Given the description of an element on the screen output the (x, y) to click on. 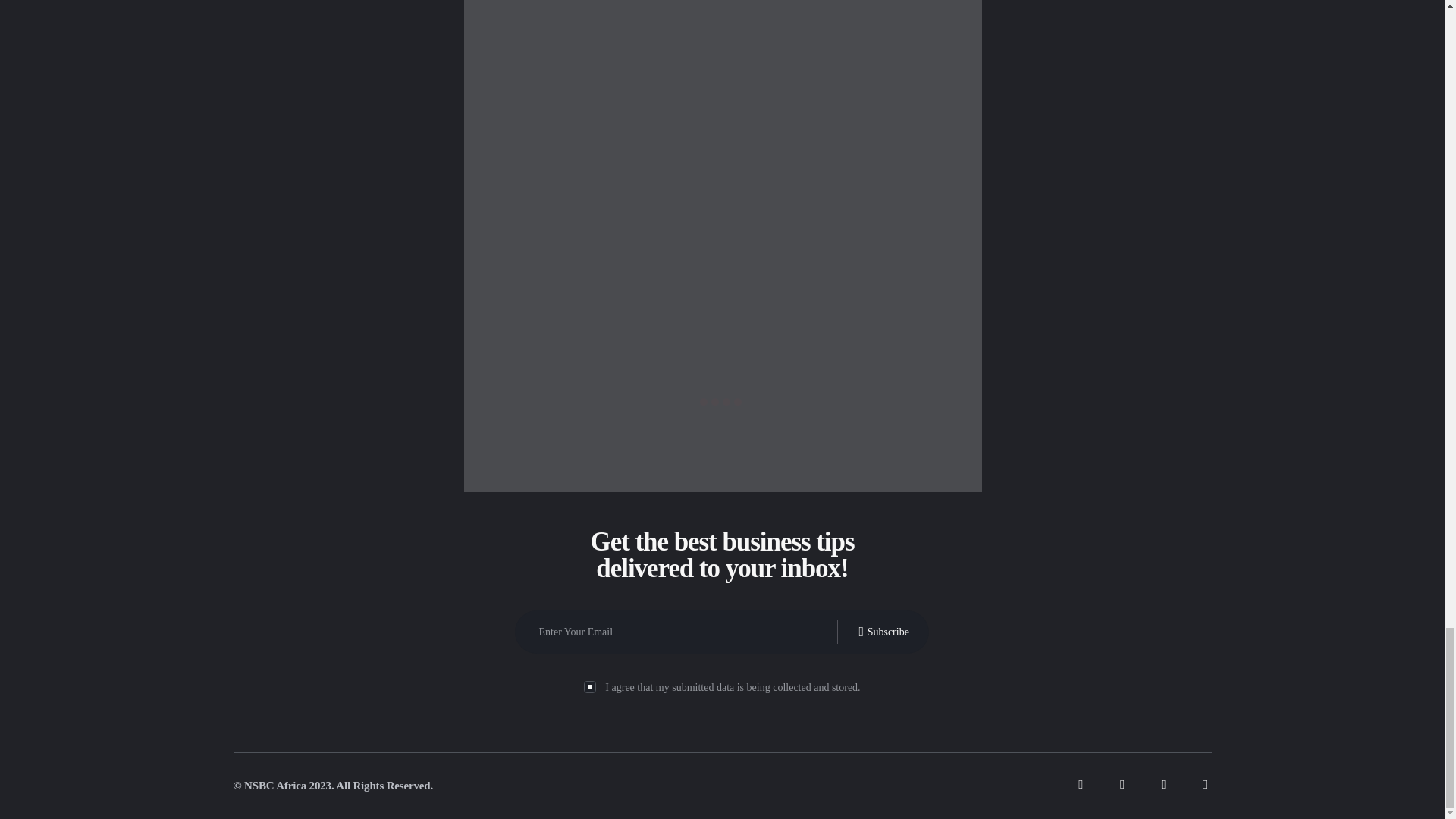
1 (588, 685)
